Given the description of an element on the screen output the (x, y) to click on. 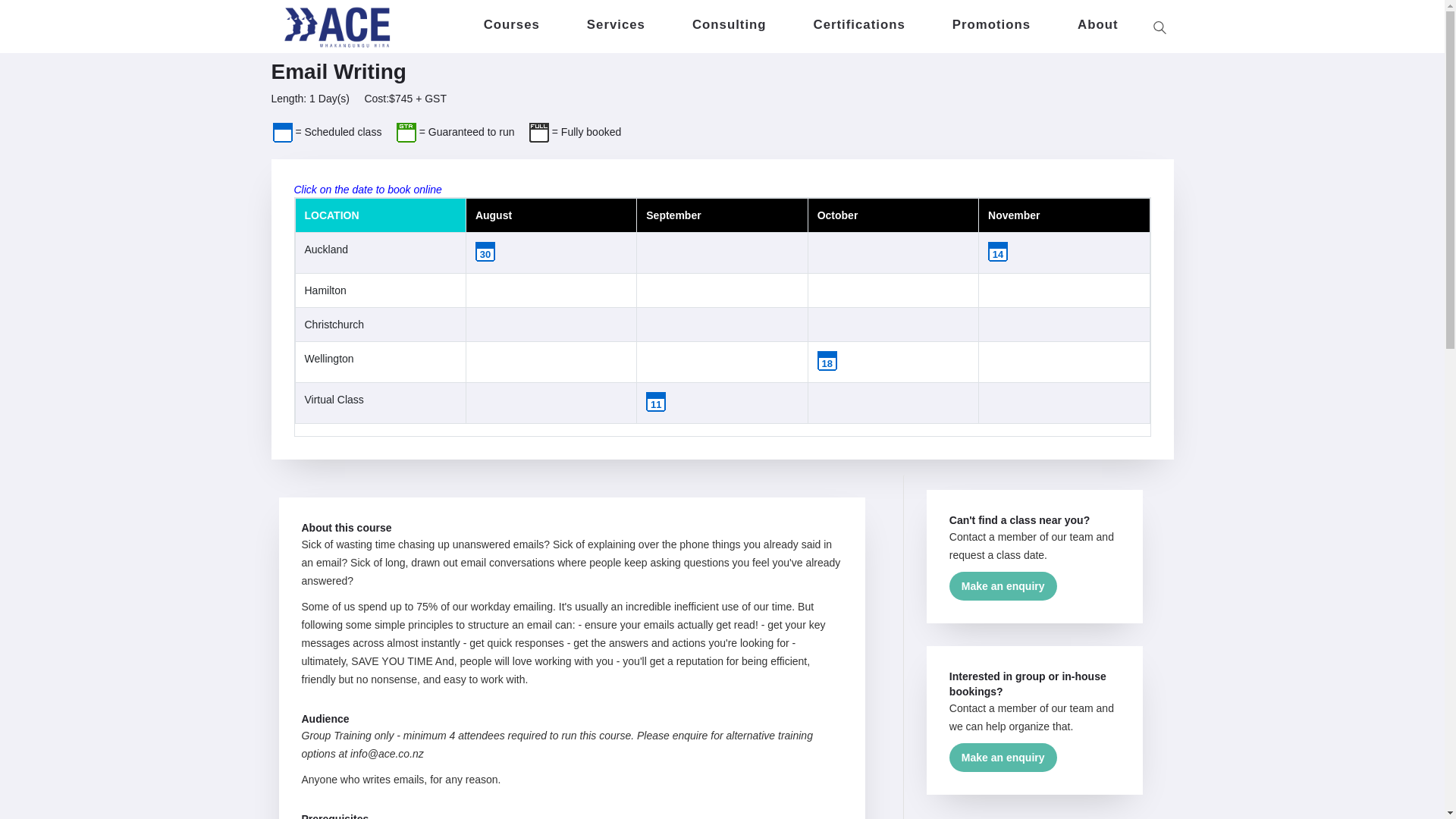
Courses (511, 21)
Services (616, 21)
Ace Logo (336, 26)
About (1097, 21)
Promotions (991, 21)
Make an enquiry (1003, 585)
Make an enquiry (1003, 757)
Certifications (859, 21)
Consulting (728, 21)
